Given the description of an element on the screen output the (x, y) to click on. 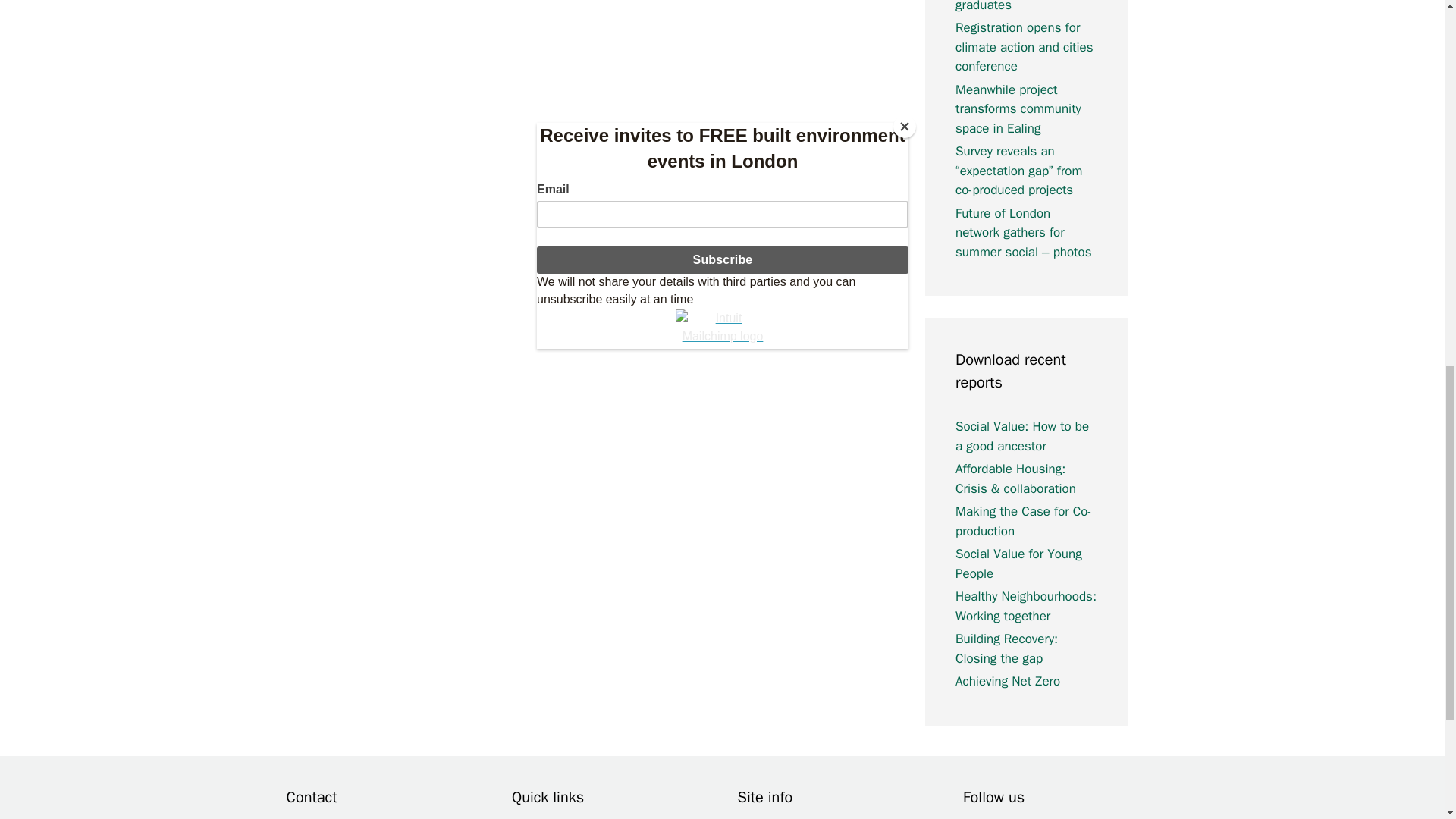
Social Value: How to be a good ancestor (1022, 436)
Achieving Net Zero (1007, 681)
Building Recovery: Closing the gap (1006, 648)
Social Value for Young People (1018, 563)
Healthy Neighbourhoods: Working together (1025, 606)
Making the Case for Co-production (1023, 520)
